Given the description of an element on the screen output the (x, y) to click on. 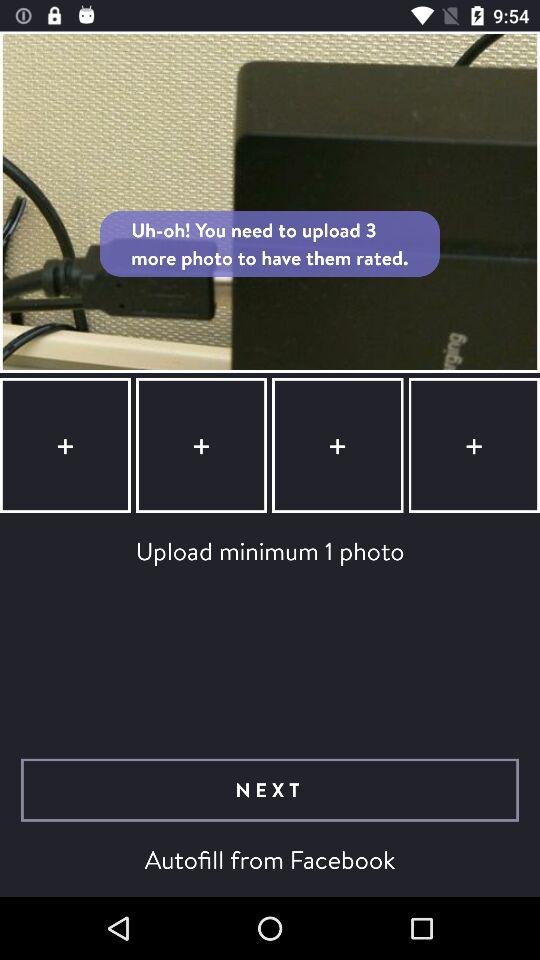
choose icon below the upload minimum 1 item (270, 789)
